Given the description of an element on the screen output the (x, y) to click on. 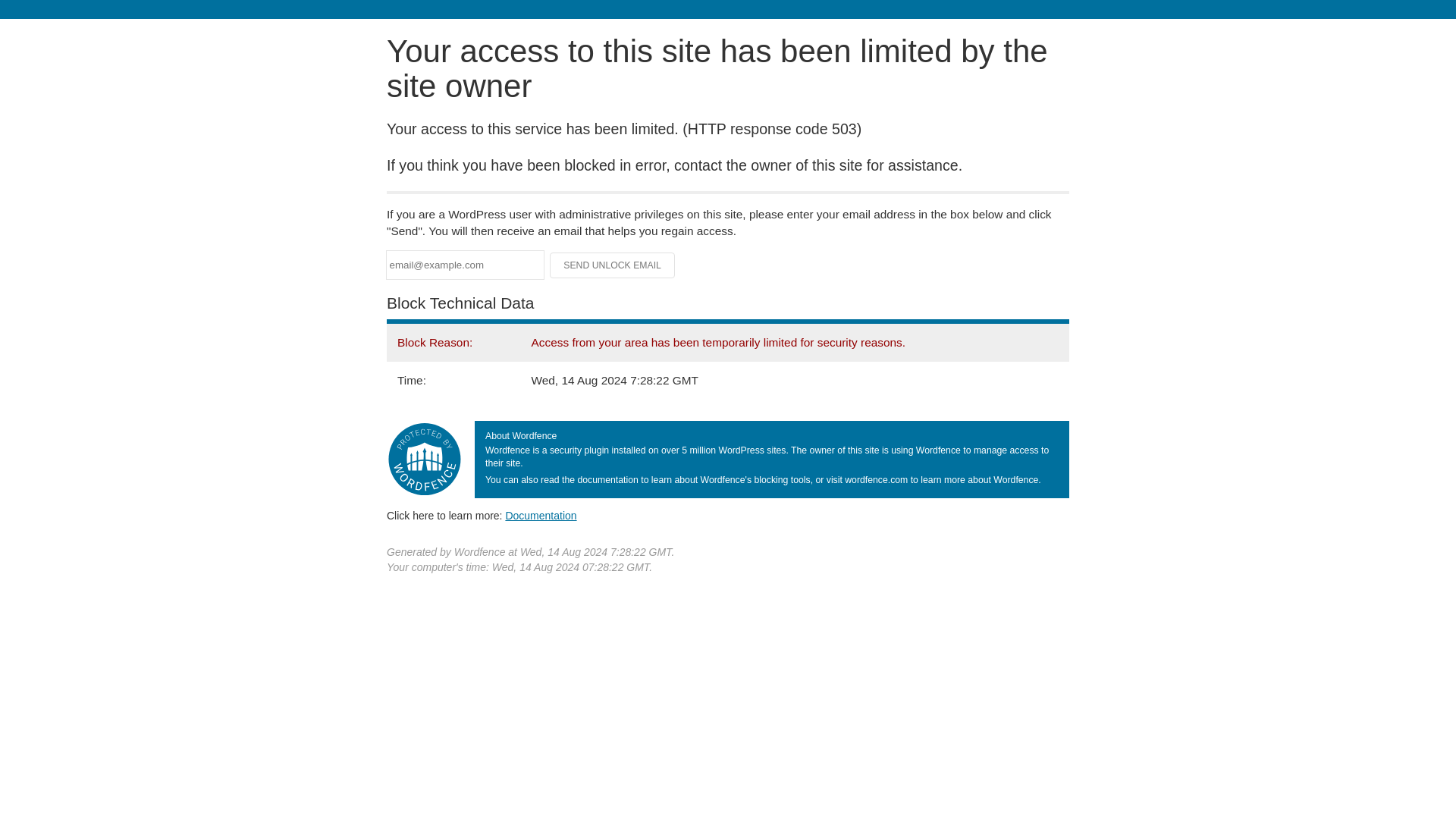
Send Unlock Email (612, 265)
Documentation (540, 515)
Send Unlock Email (612, 265)
